Given the description of an element on the screen output the (x, y) to click on. 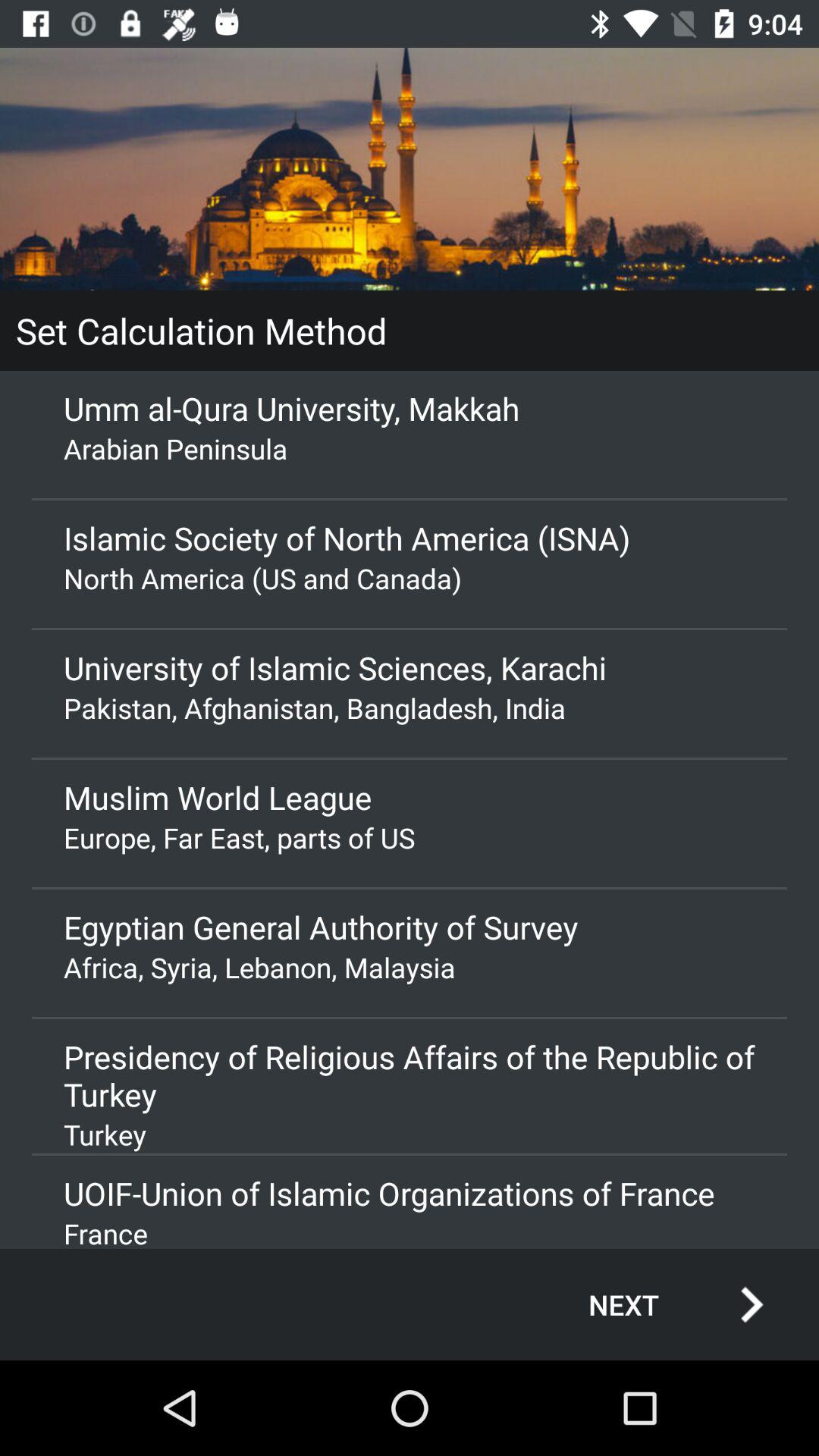
open item below the set calculation method icon (409, 407)
